Given the description of an element on the screen output the (x, y) to click on. 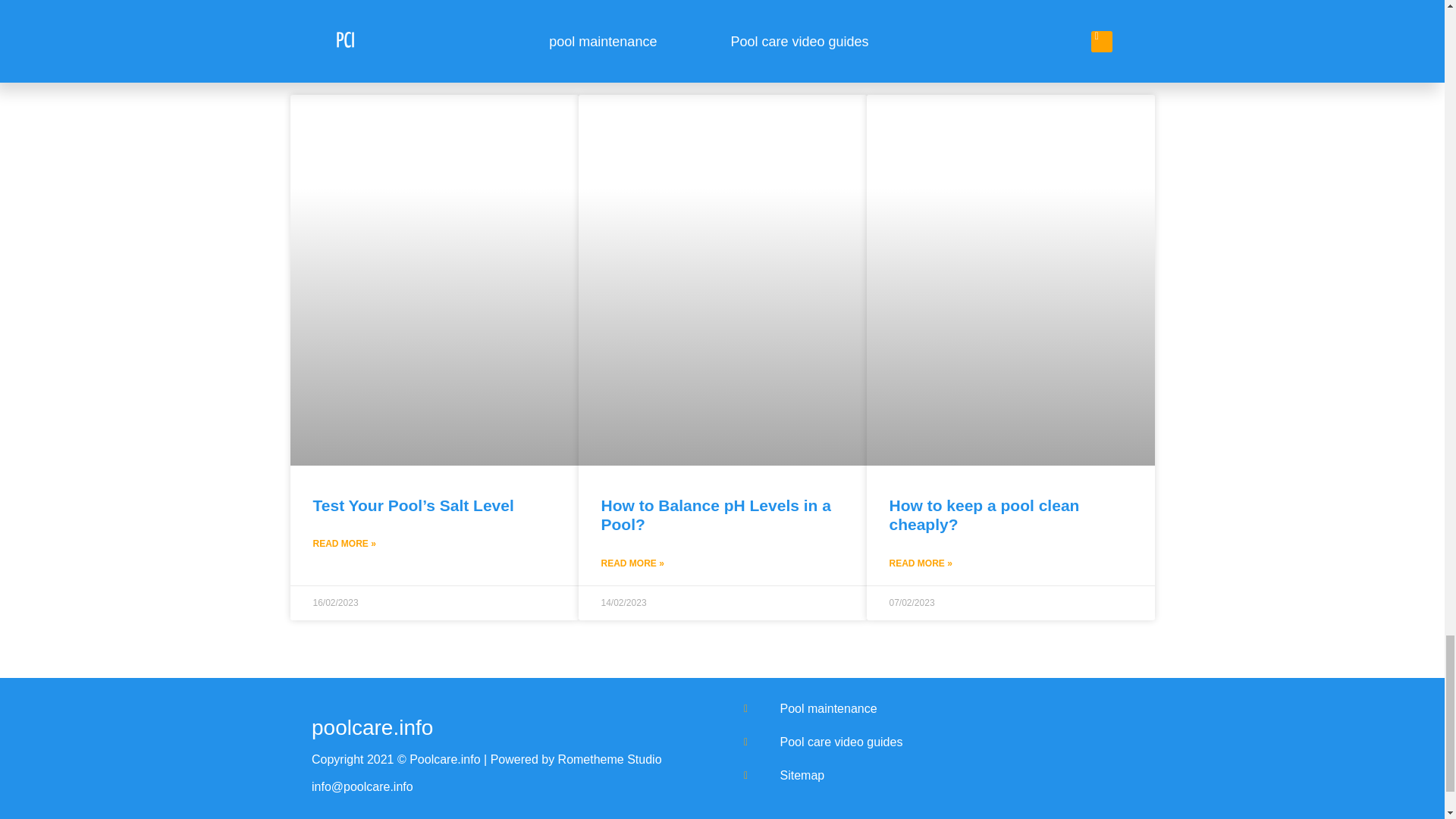
Sitemap (938, 775)
poolcare.info (371, 727)
How to keep a pool clean cheaply? (983, 514)
How to Balance pH Levels in a Pool? (714, 514)
Pool care video guides (938, 742)
Pool maintenance (938, 709)
